Given the description of an element on the screen output the (x, y) to click on. 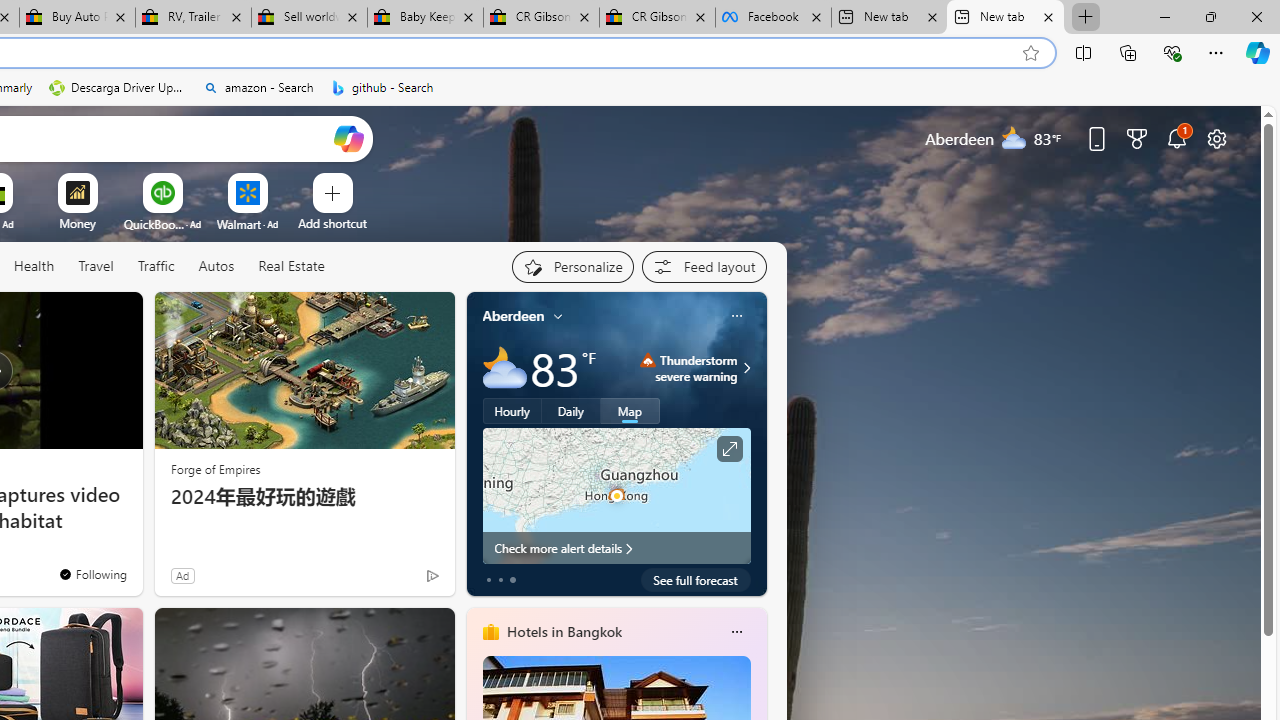
Descarga Driver Updater (118, 88)
Travel (95, 267)
Buy Auto Parts & Accessories | eBay (77, 17)
tab-1 (500, 579)
Forge of Empires (215, 468)
